Given the description of an element on the screen output the (x, y) to click on. 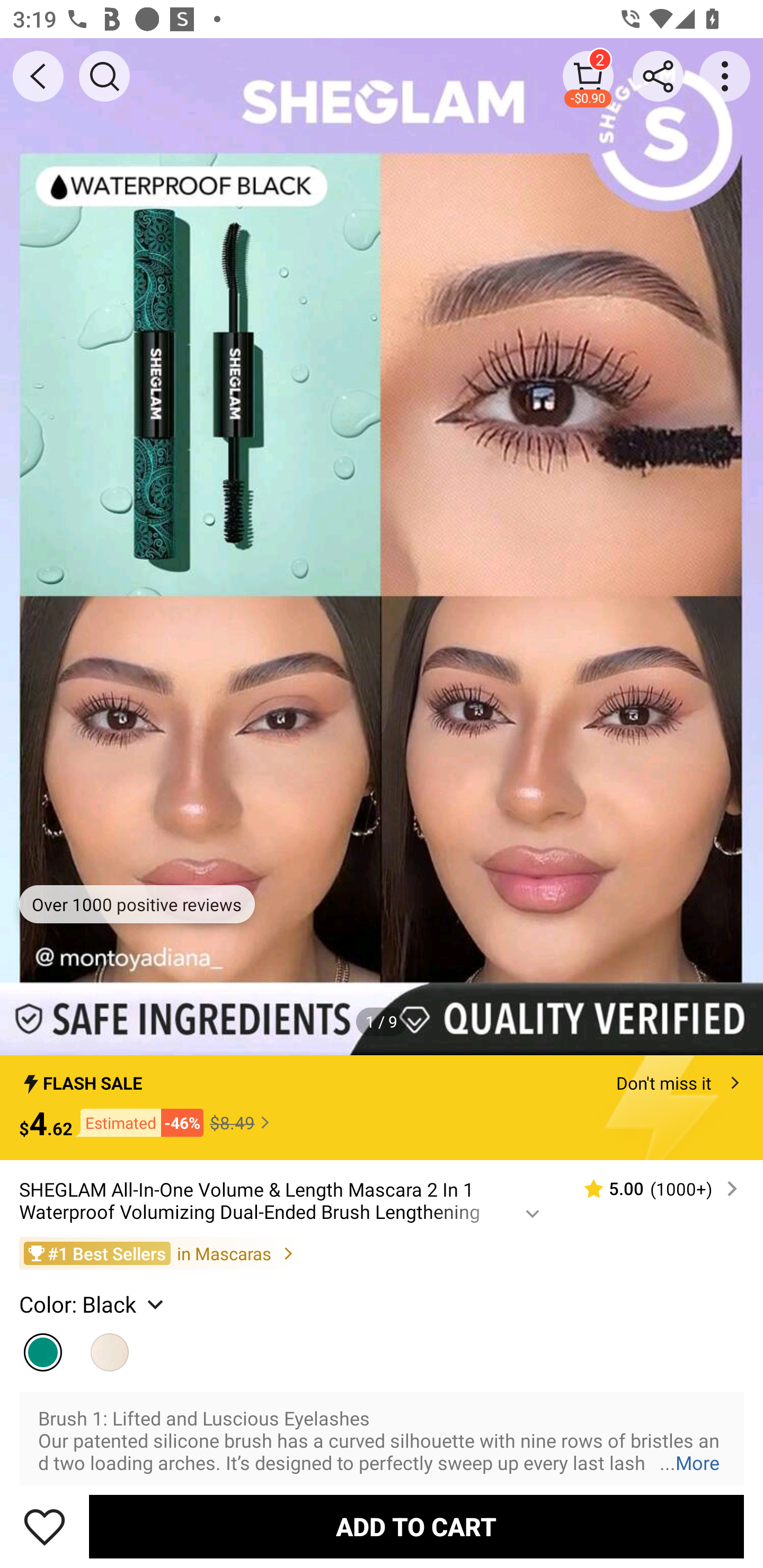
BACK (38, 75)
2 -$0.90 (588, 75)
1 / 9 (381, 1021)
FLASH SALE Don't miss it (381, 1077)
Estimated -46% (137, 1122)
$8.49 (241, 1121)
5.00 (1000‎+) (653, 1188)
#1 Best Sellers in Mascaras (381, 1253)
Color: Black (93, 1303)
Black (42, 1347)
Black (109, 1347)
ADD TO CART (416, 1526)
Save (44, 1526)
